Given the description of an element on the screen output the (x, y) to click on. 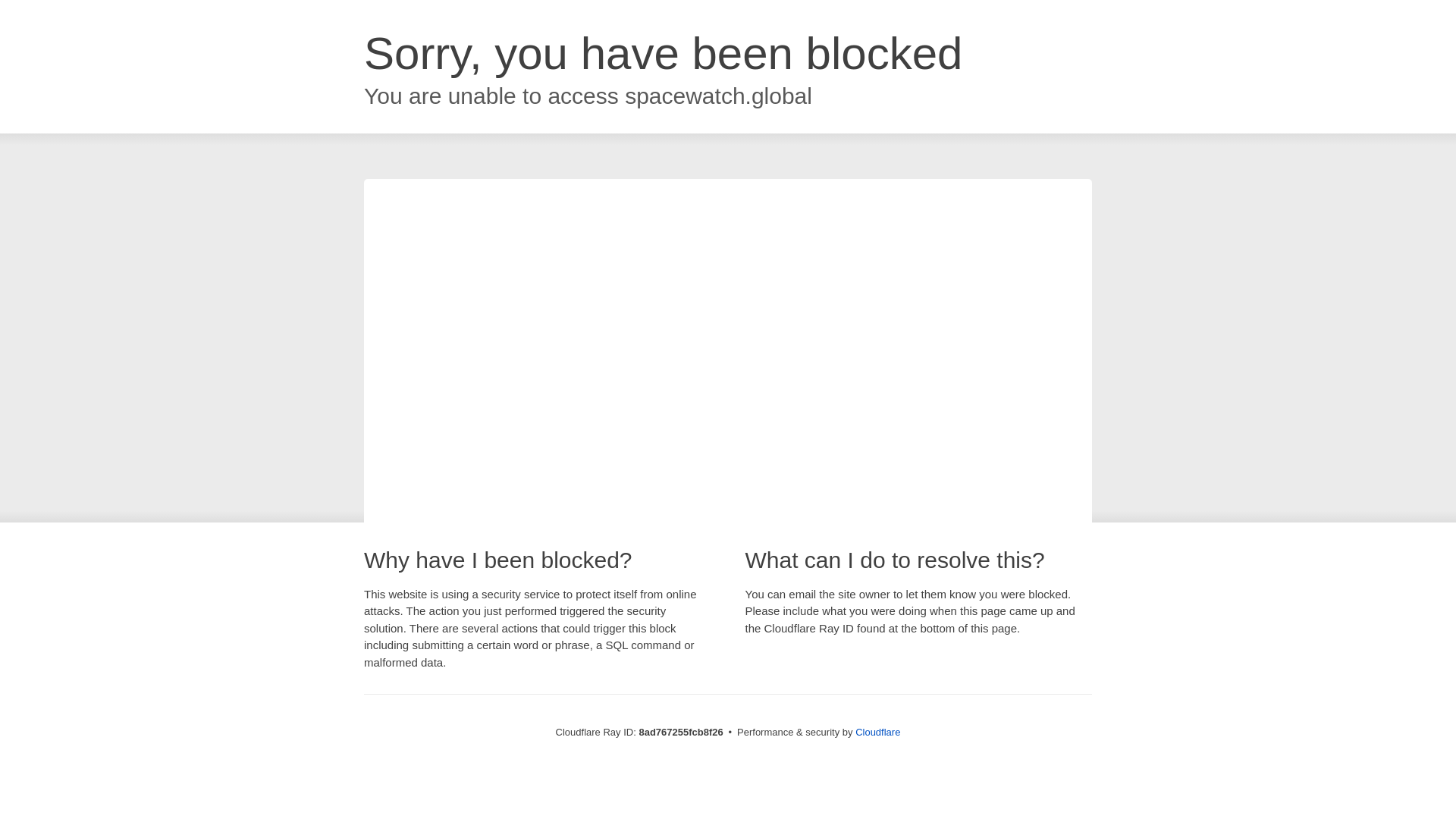
Cloudflare (877, 731)
